Given the description of an element on the screen output the (x, y) to click on. 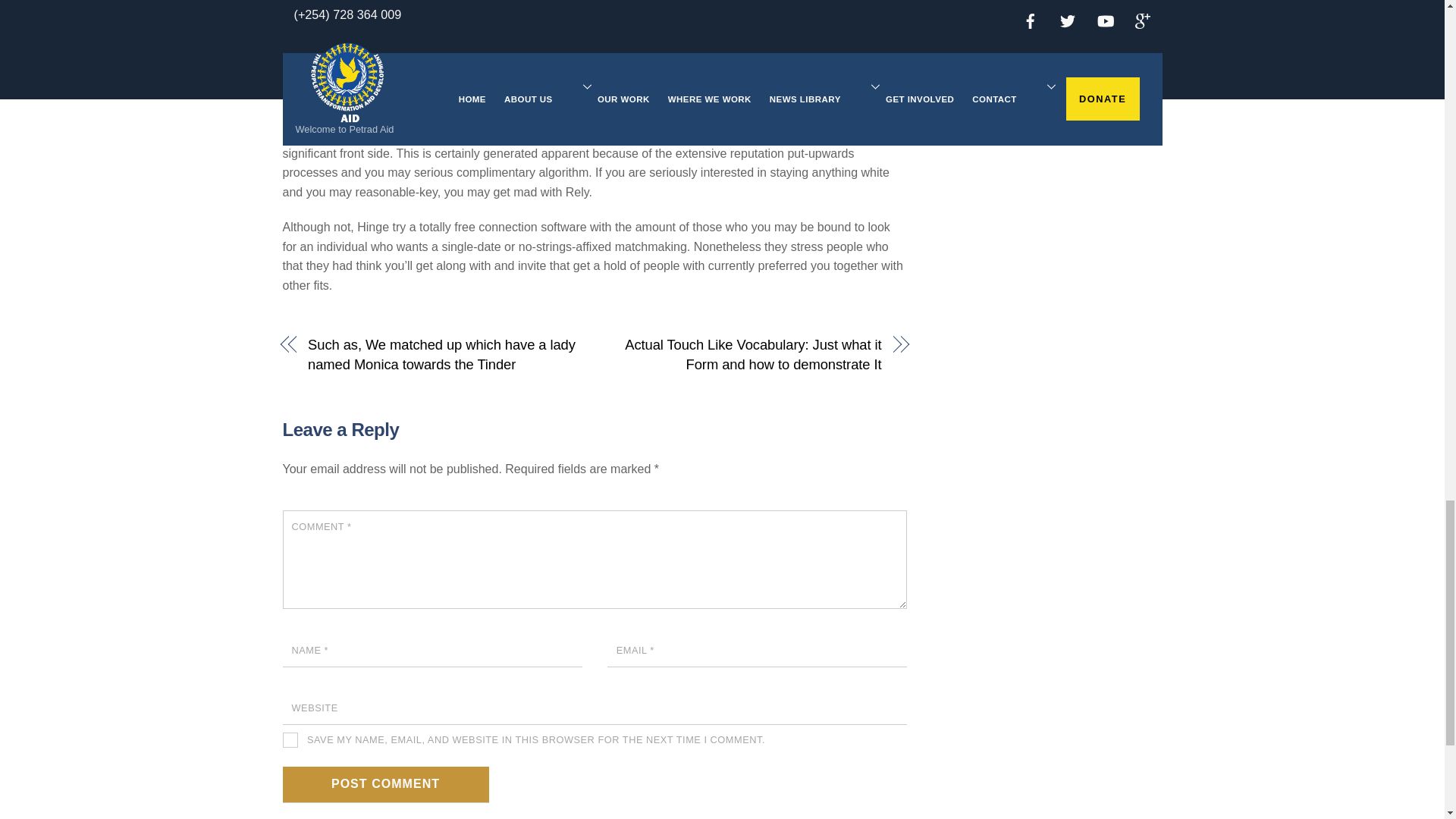
Post Comment (384, 784)
yes (289, 739)
Post Comment (384, 784)
